Given the description of an element on the screen output the (x, y) to click on. 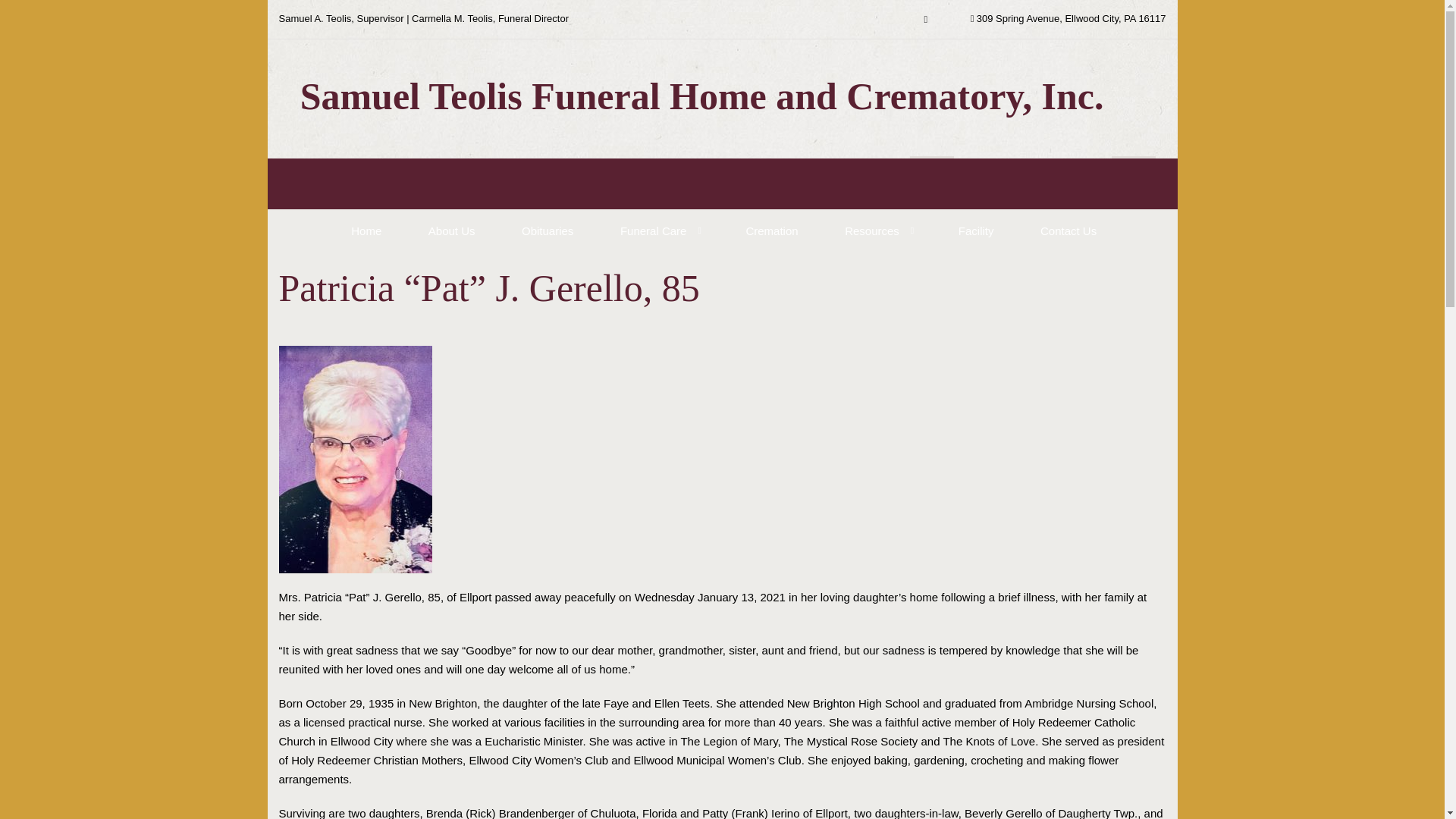
Facility (974, 229)
Resources (869, 229)
Obituaries (545, 229)
Home (364, 229)
Funeral Care (651, 229)
About Us (449, 229)
Home (364, 229)
Samuel Teolis Funeral Home and Crematory, Inc. (695, 92)
Cremation (769, 229)
